Given the description of an element on the screen output the (x, y) to click on. 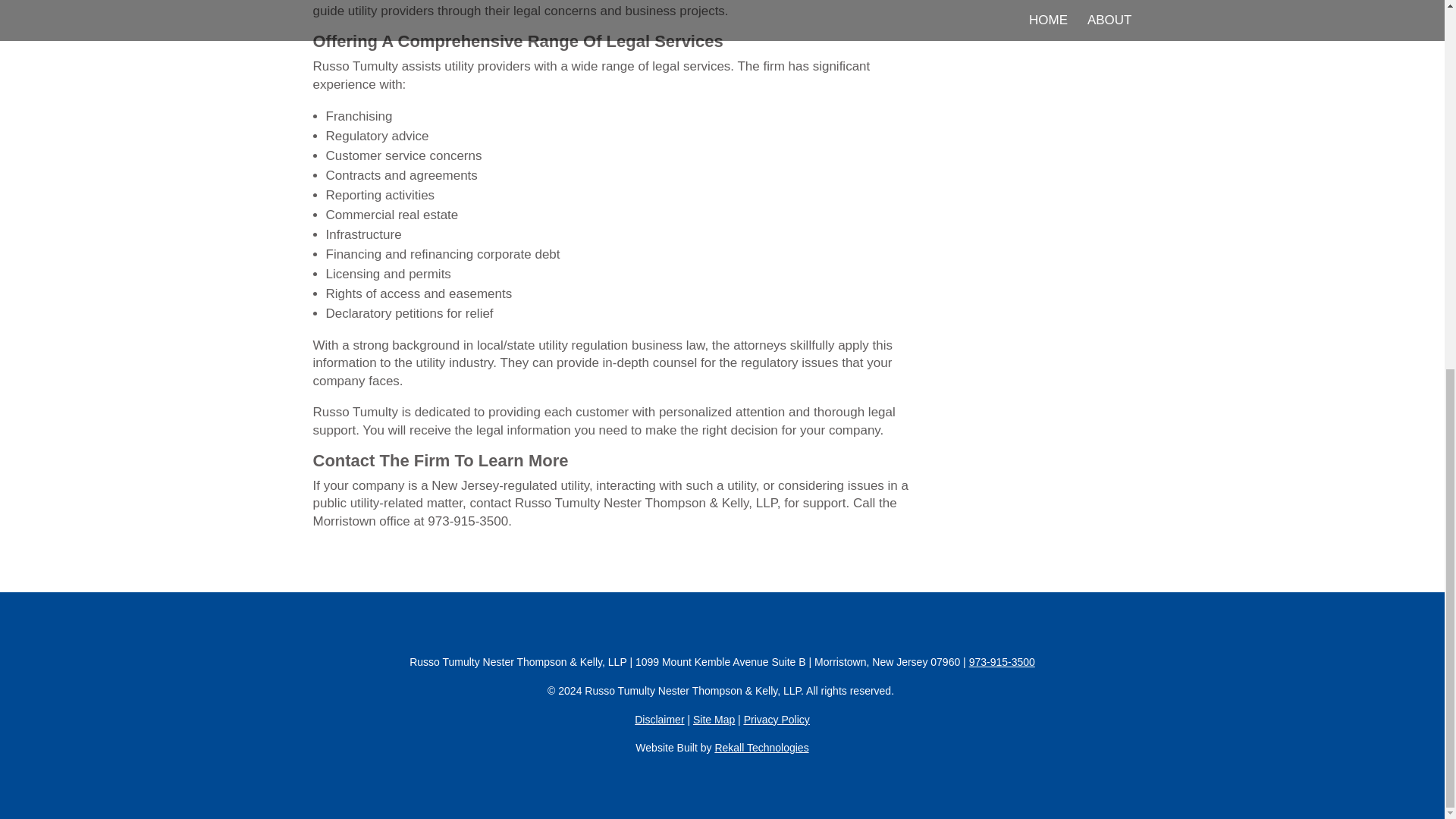
Rekall Technologies (761, 747)
Privacy Policy (776, 719)
973-915-3500 (1002, 662)
Disclaimer (659, 719)
Site Map (714, 719)
